Given the description of an element on the screen output the (x, y) to click on. 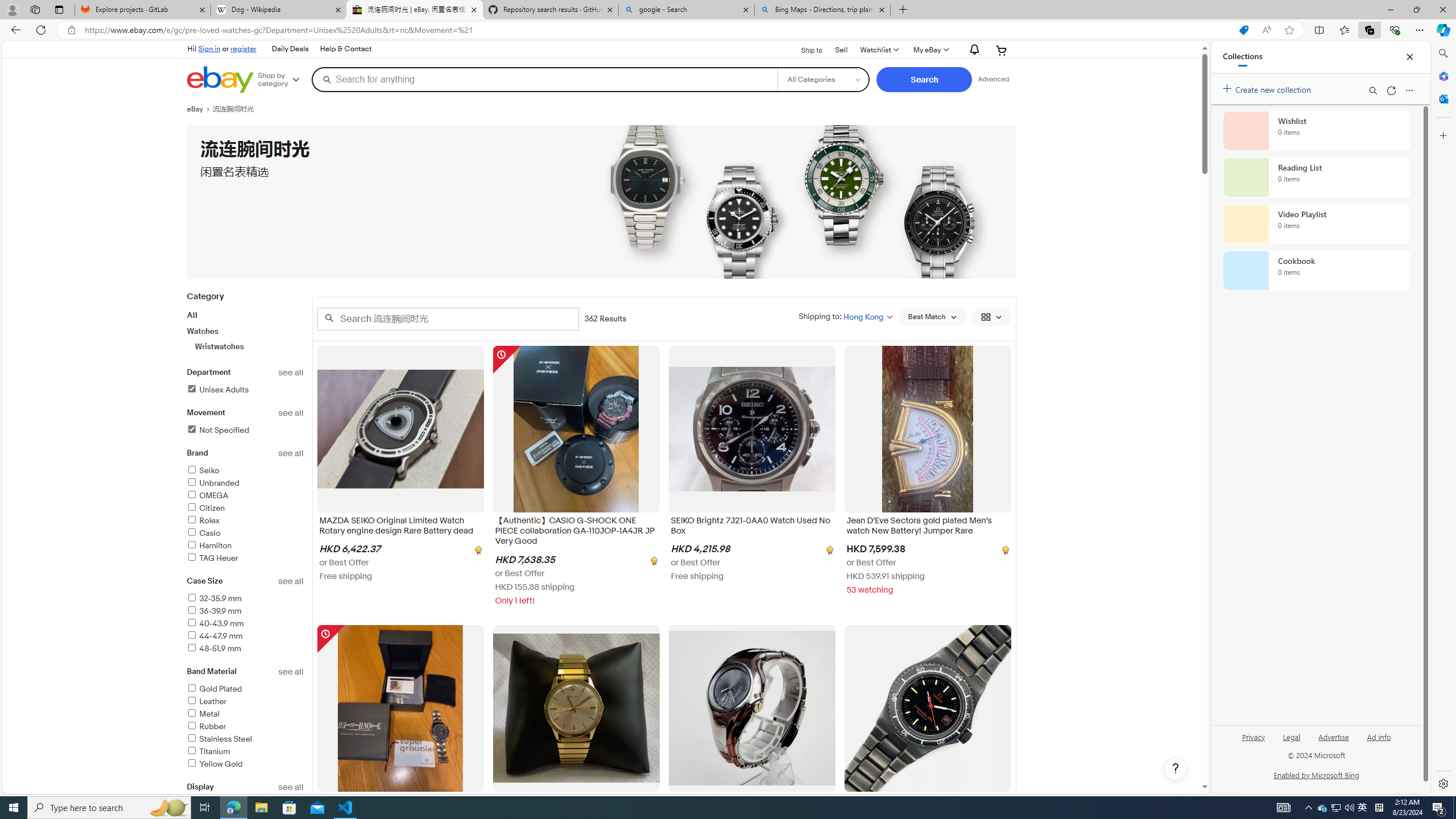
48-51.9 mm (245, 648)
Metal (202, 714)
My eBayExpand My eBay (930, 49)
48-51.9 mm (213, 648)
Casio (203, 533)
Rubber (245, 726)
Read aloud this page (Ctrl+Shift+U) (1266, 29)
eBay Home (219, 79)
Citizen (245, 508)
Sign in (209, 48)
Unisex Adults Filter Applied (217, 389)
44-47.9 mm (214, 636)
Help & Contact (345, 49)
